Given the description of an element on the screen output the (x, y) to click on. 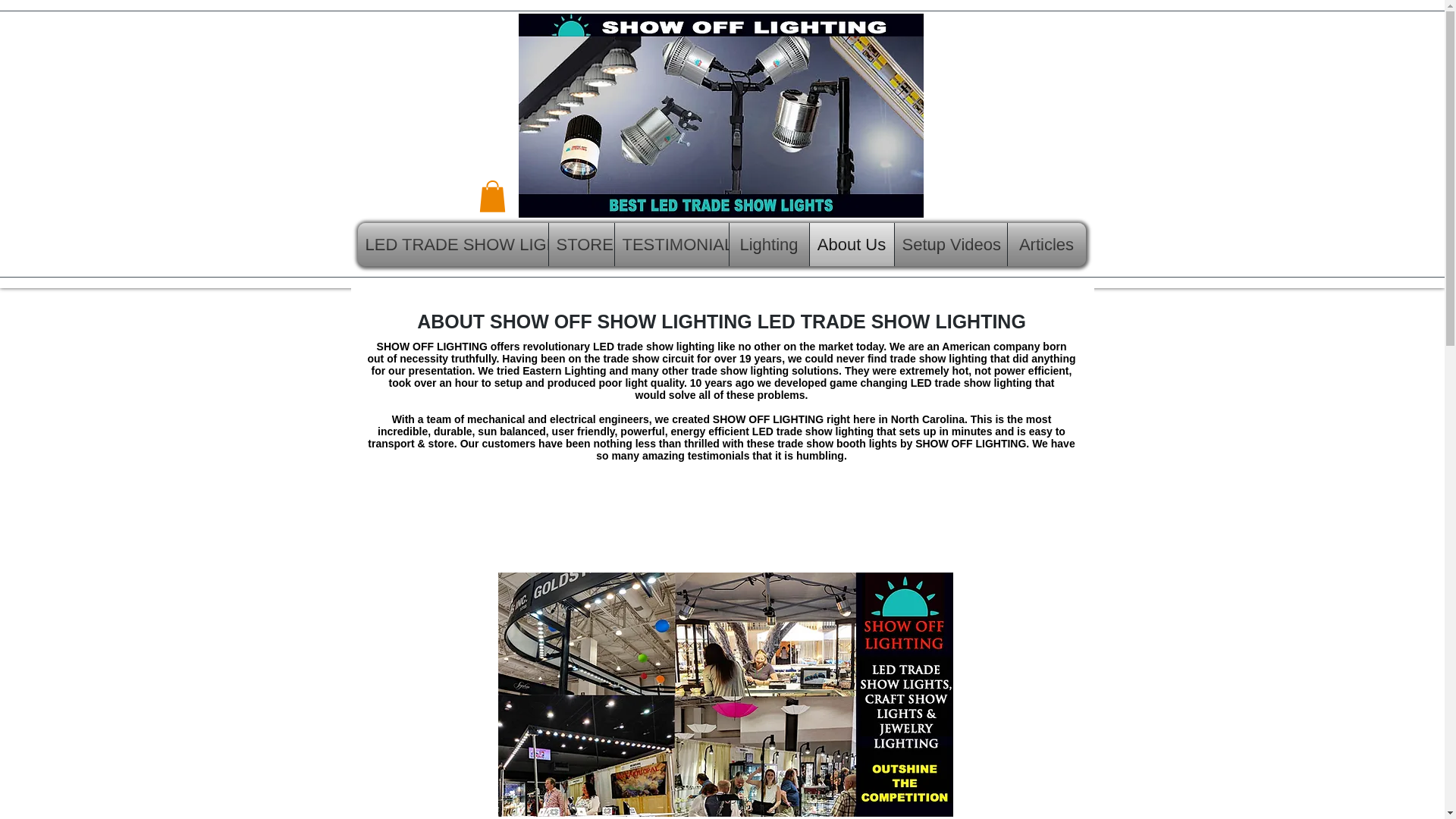
Setup Videos (951, 244)
Lighting (769, 244)
SEE WHY SHOW OFF LIGHTING MAKES THE BEST TRADE SHOW LIGHTING (724, 694)
Articles (1045, 244)
TESTIMONIALS (671, 244)
STORE (581, 244)
LED TRADE SHOW LIGHTING (453, 244)
About Us (851, 244)
